Given the description of an element on the screen output the (x, y) to click on. 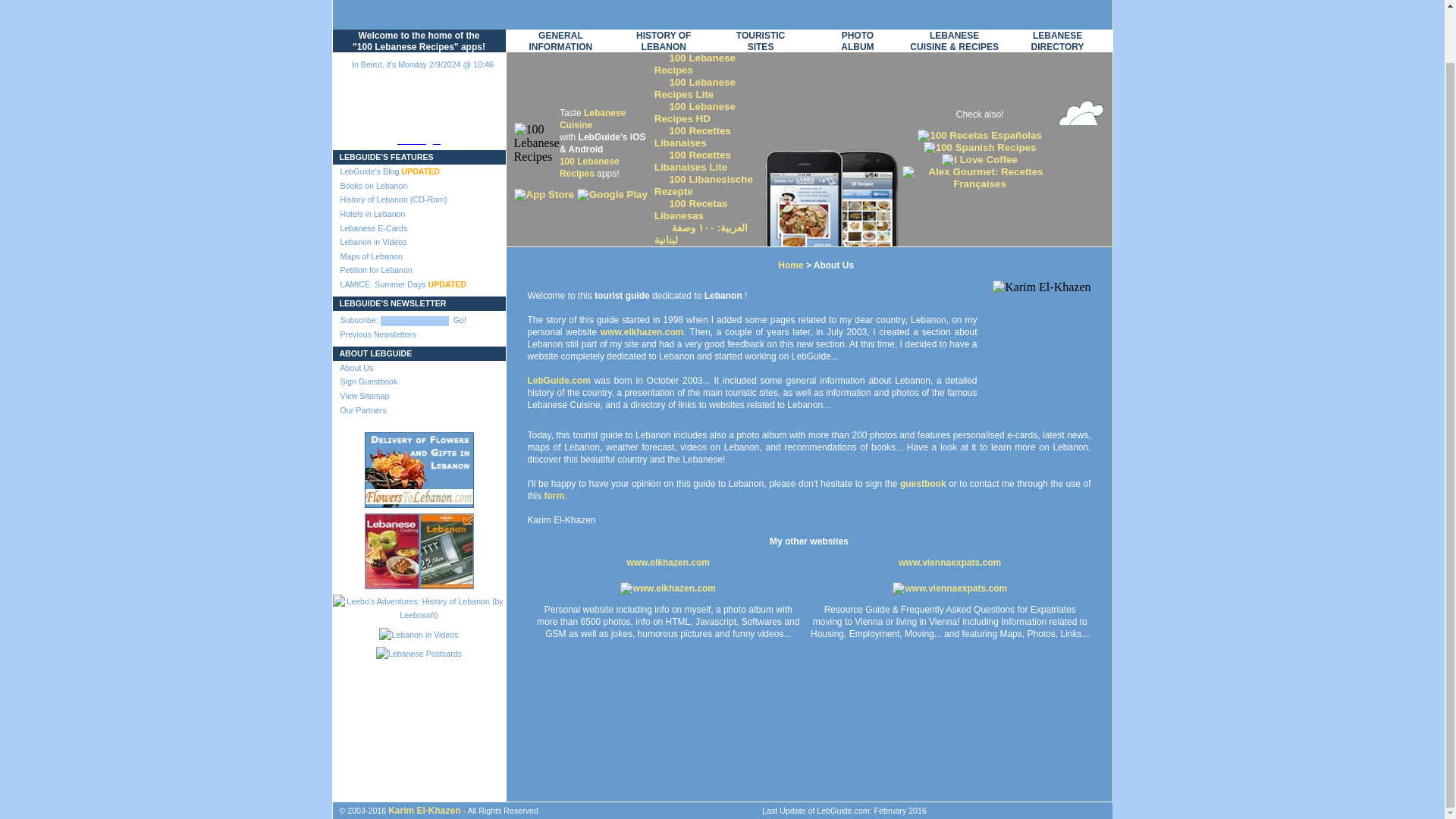
Previous Newsletters (418, 334)
Lebanon in Videos (418, 242)
Hotels in Lebanon (418, 214)
Recommended Books by LebGuide - Lebanese Books (418, 547)
Go! (458, 319)
100 Libanesische Rezepte (702, 185)
100 Lebanese Recipes Lite (694, 87)
LebGuide's Blog UPDATED (418, 171)
Sign Guestbook (418, 381)
Maps of Lebanon (418, 256)
